Given the description of an element on the screen output the (x, y) to click on. 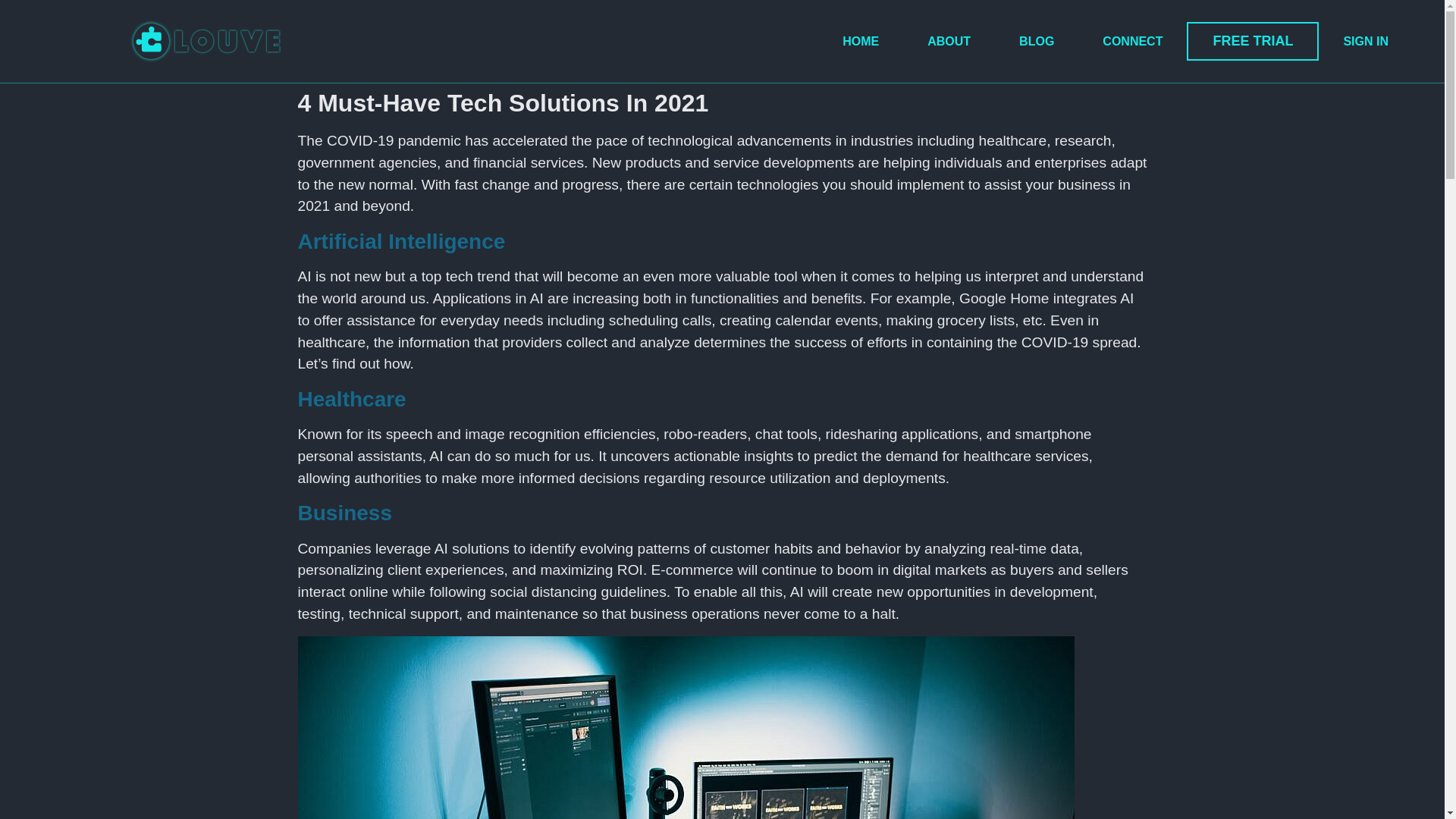
FREE TRIAL (1252, 41)
SIGN IN (1365, 41)
CONNECT (1132, 41)
HOME (860, 41)
BLOG (1036, 41)
ABOUT (948, 41)
